Given the description of an element on the screen output the (x, y) to click on. 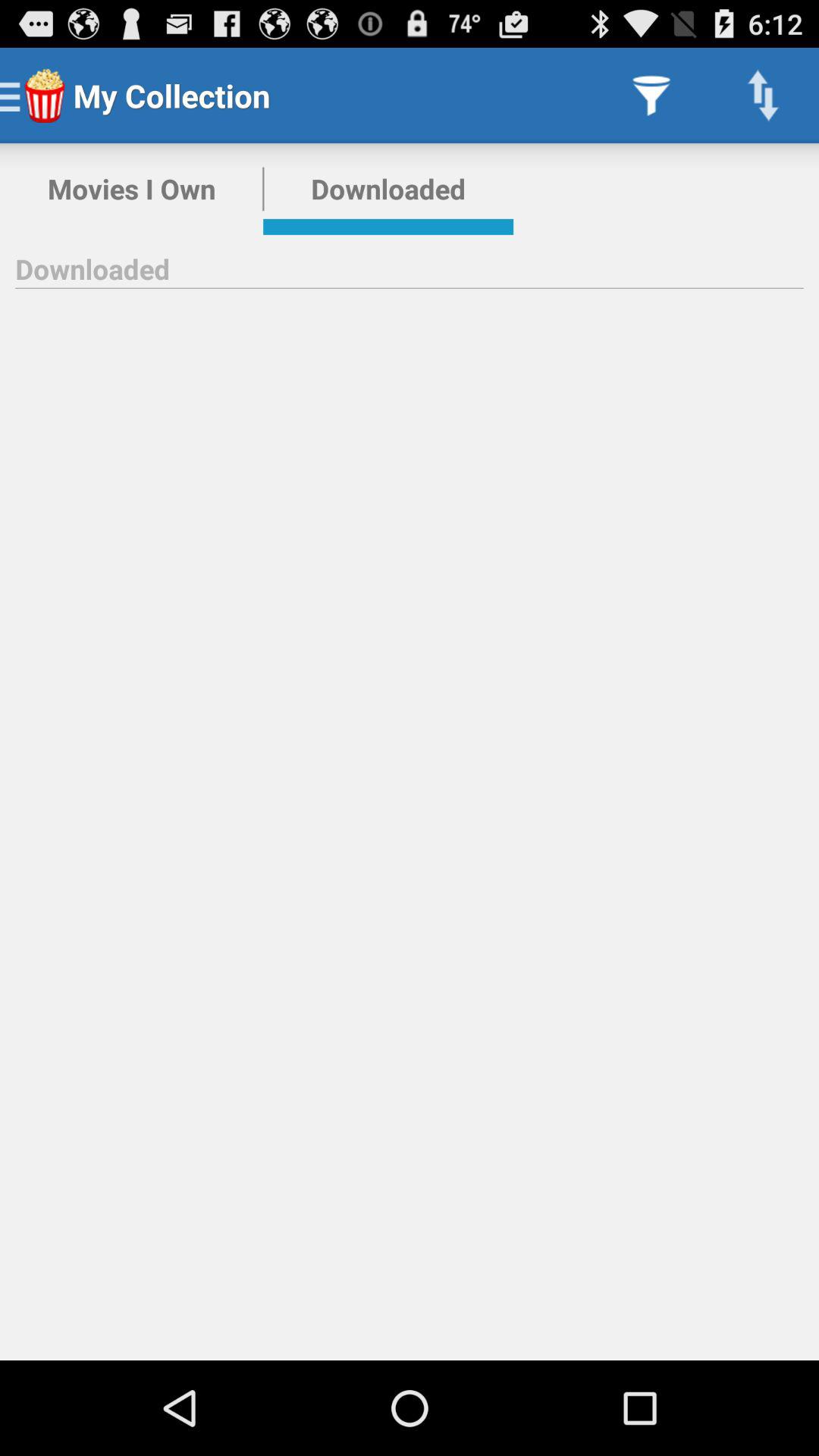
launch item to the left of downloaded item (131, 188)
